Given the description of an element on the screen output the (x, y) to click on. 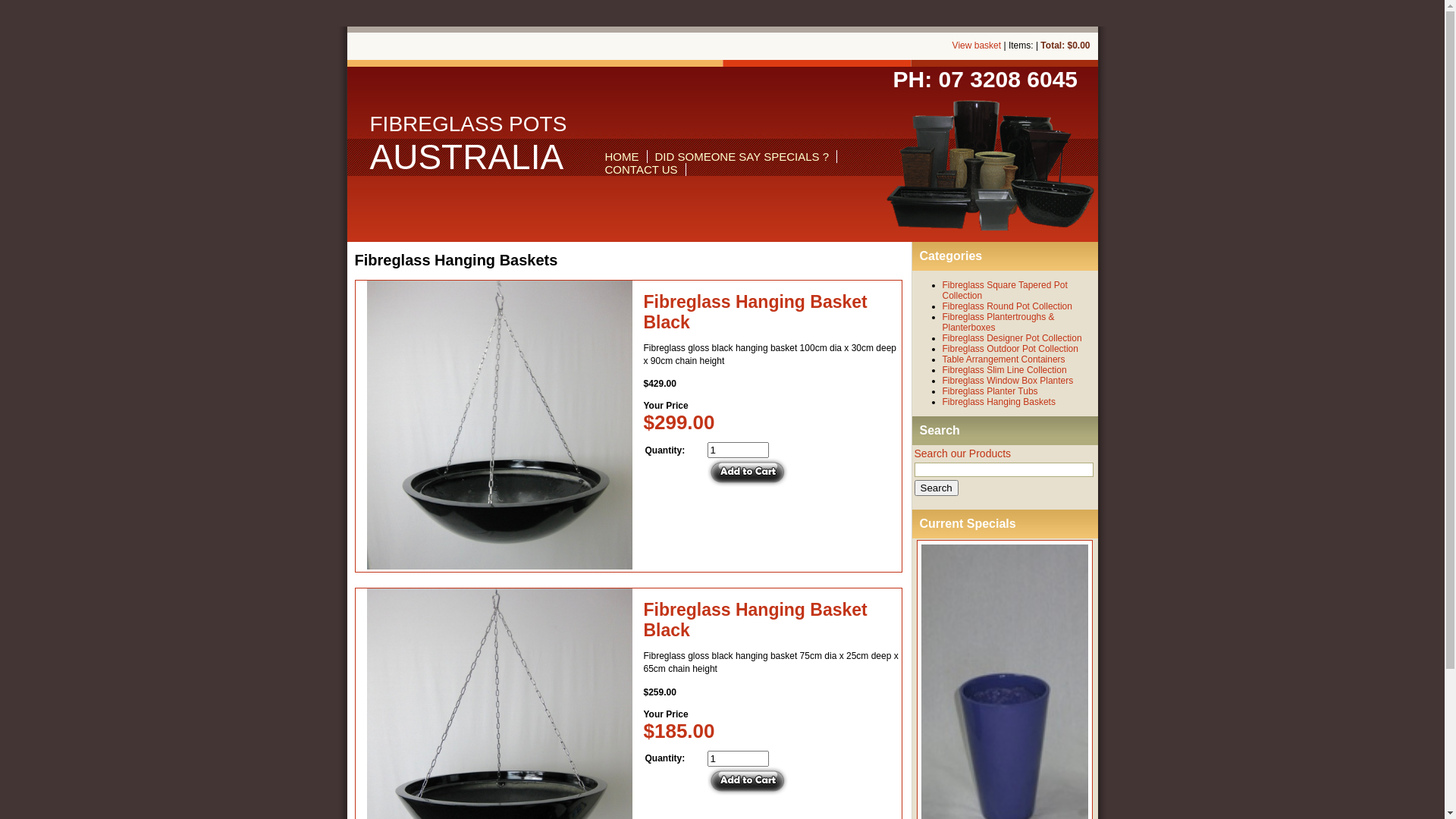
Search Element type: text (936, 487)
Fibreglass Round Pot Collection Element type: text (1006, 306)
Fibreglass Slim Line Collection Element type: text (1003, 369)
HOME Element type: text (621, 156)
View basket Element type: text (976, 45)
Fibreglass Plantertroughs & Planterboxes Element type: text (997, 321)
CONTACT US Element type: text (641, 169)
Add to Cart + Element type: text (746, 472)
Fibreglass Square Tapered Pot Collection Element type: text (1003, 290)
Fibreglass Outdoor Pot Collection Element type: text (1009, 348)
Fibreglass Hanging Baskets Element type: text (997, 401)
Fibreglass Designer Pot Collection Element type: text (1011, 337)
Table Arrangement Containers Element type: text (1002, 359)
Fibreglass Window Box Planters Element type: text (1007, 380)
Add to Cart + Element type: text (746, 780)
FIBREGLASS POTS
AUSTRALIA Element type: text (468, 142)
DID SOMEONE SAY SPECIALS ? Element type: text (742, 156)
Fibreglass Planter Tubs Element type: text (989, 390)
